Given the description of an element on the screen output the (x, y) to click on. 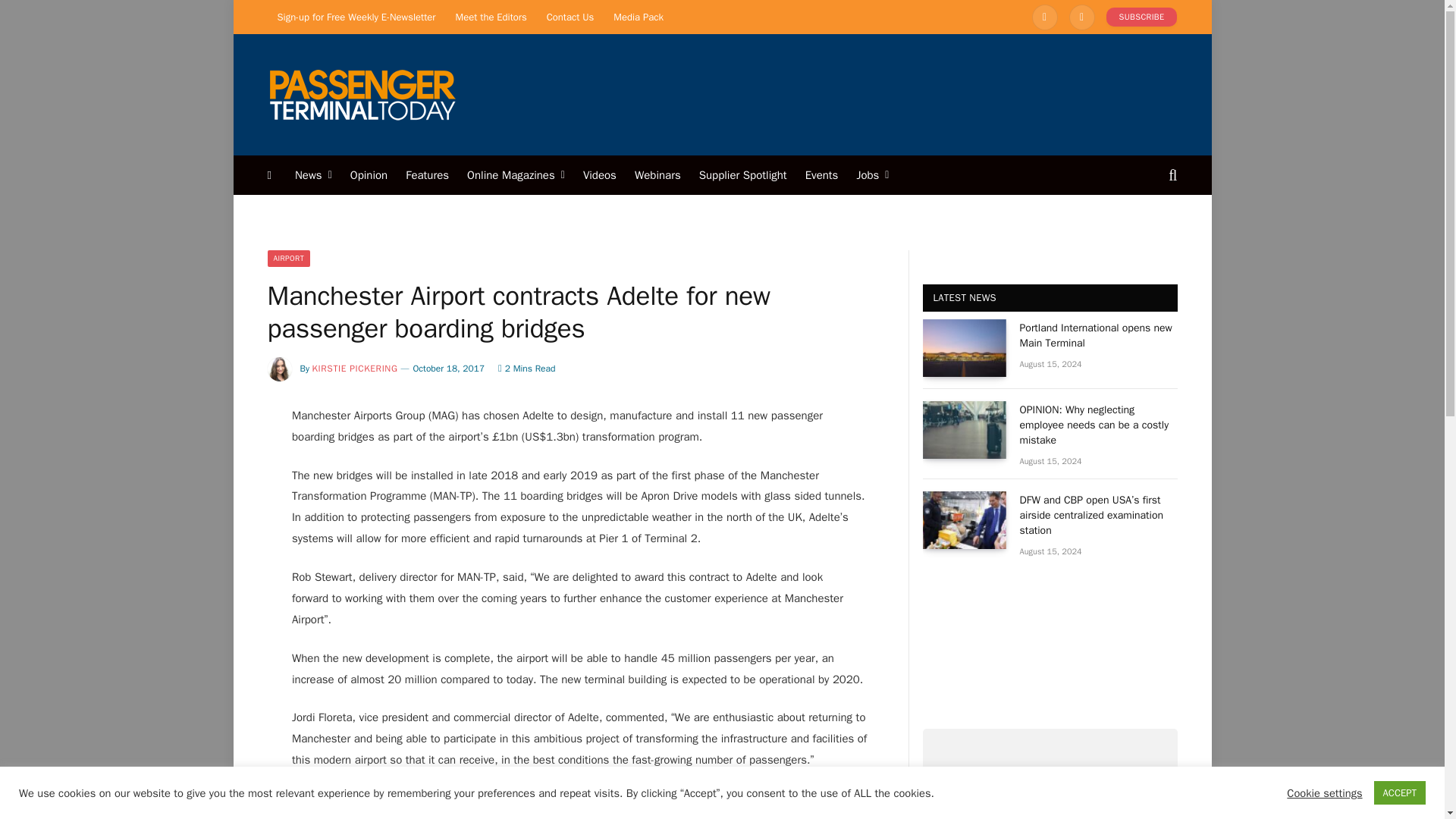
Passenger Terminal Today (361, 94)
Share via Email (866, 816)
Share on LinkedIn (754, 816)
Posts by Kirstie Pickering (355, 368)
Share on Facebook (810, 816)
